Given the description of an element on the screen output the (x, y) to click on. 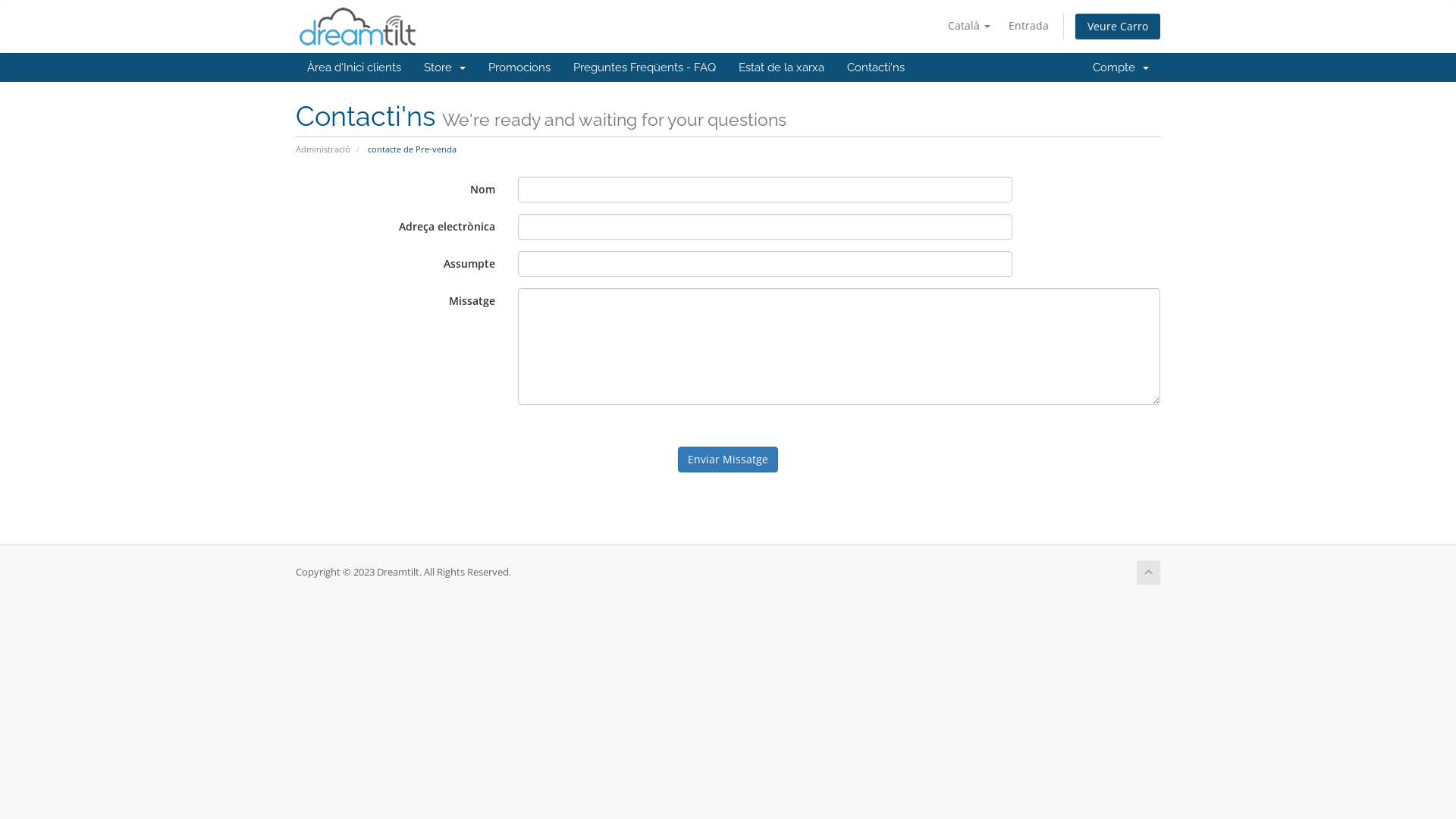
Promocions Element type: text (518, 67)
Store   Element type: text (444, 67)
Veure Carro Element type: text (1117, 26)
Estat de la xarxa Element type: text (781, 67)
Entrada Element type: text (1028, 25)
Compte   Element type: text (1120, 67)
Contacti'ns Element type: text (875, 67)
Enviar Missatge Element type: text (727, 459)
